Given the description of an element on the screen output the (x, y) to click on. 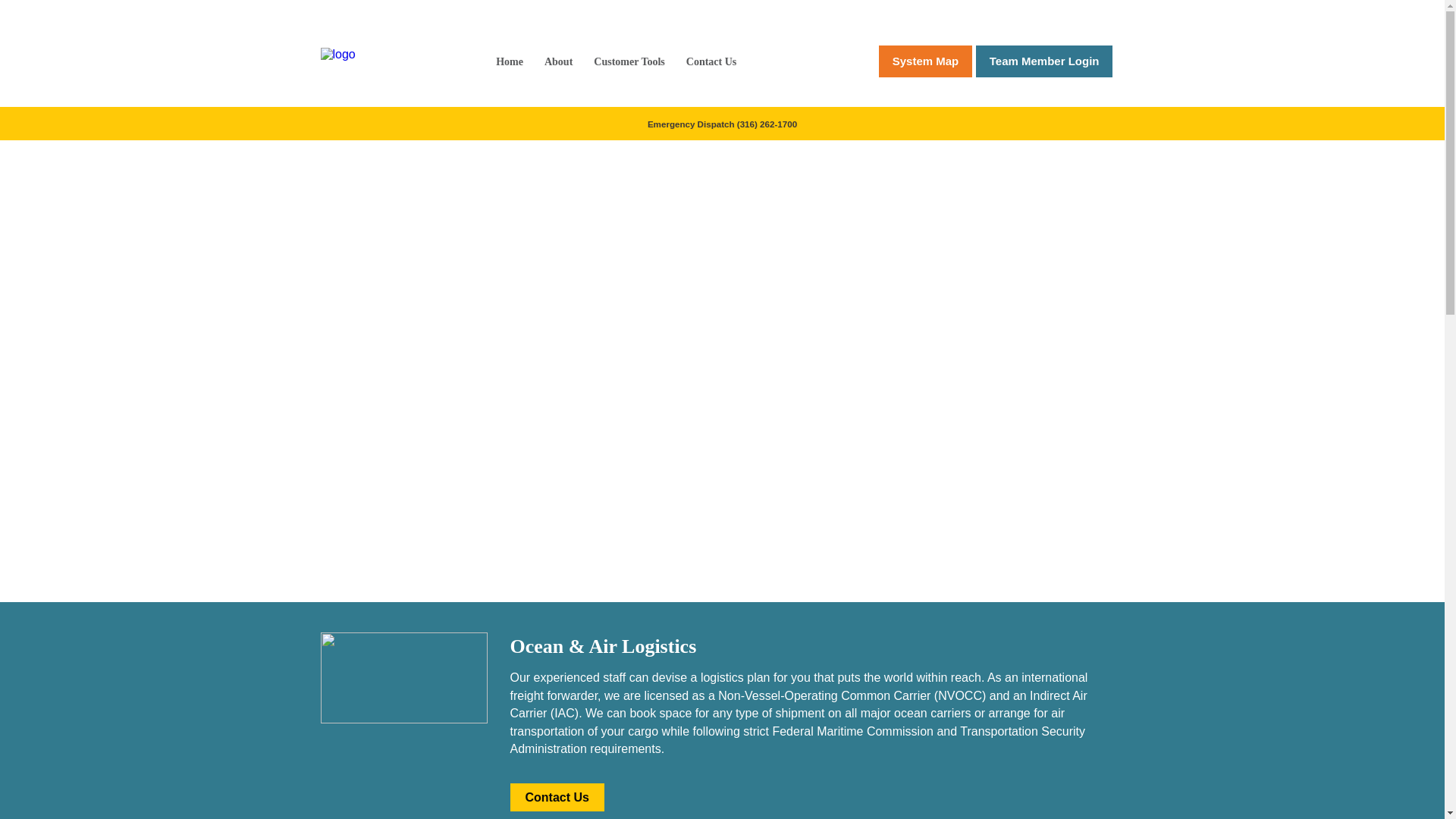
Search (125, 14)
Contact Us (556, 796)
Customer Tools (628, 61)
Contact Us (556, 796)
Team Member Login (1044, 60)
About (558, 61)
System Map (925, 60)
Home (509, 61)
Contact Us (710, 61)
